Given the description of an element on the screen output the (x, y) to click on. 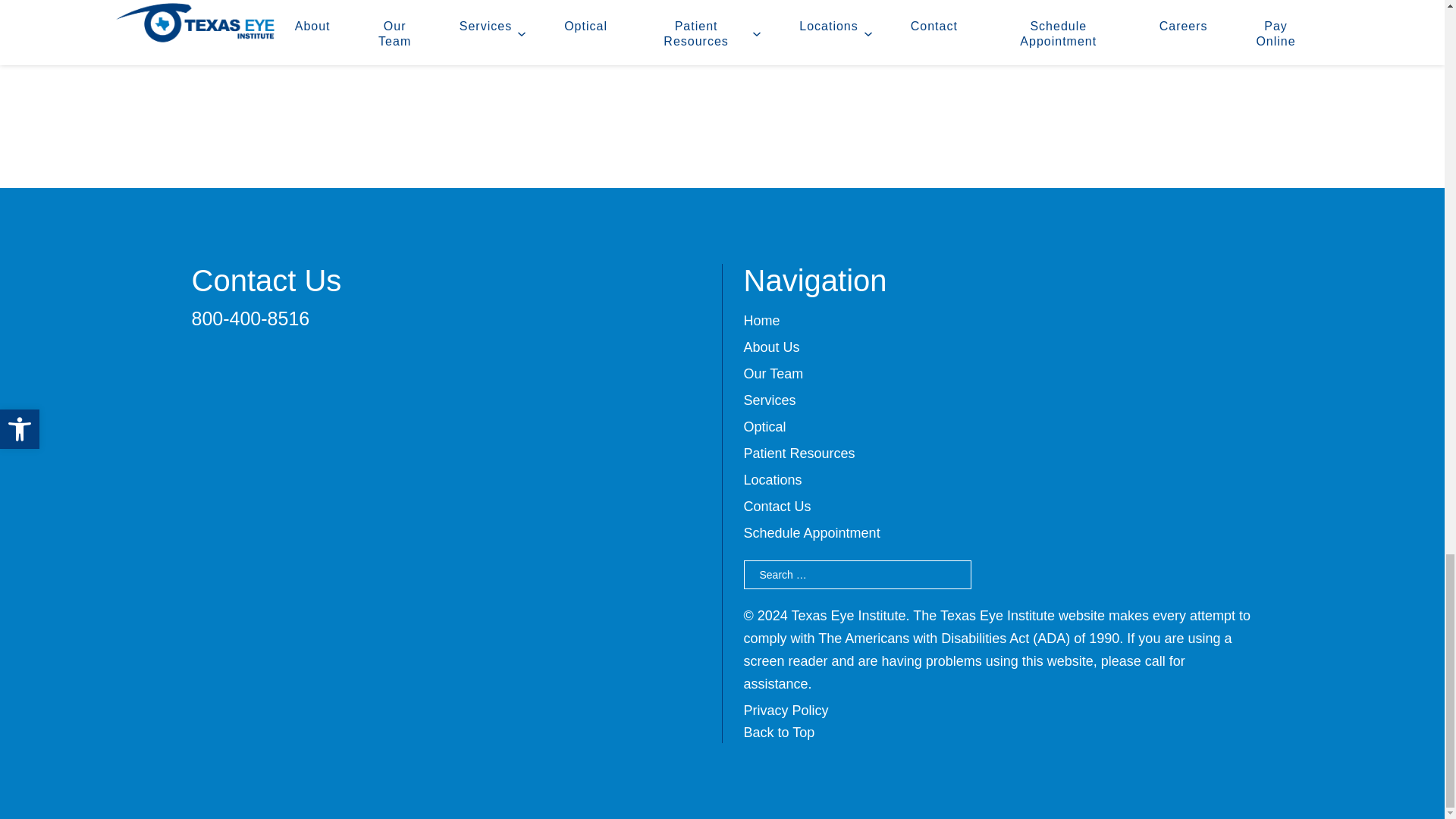
Search for: (856, 574)
